Given the description of an element on the screen output the (x, y) to click on. 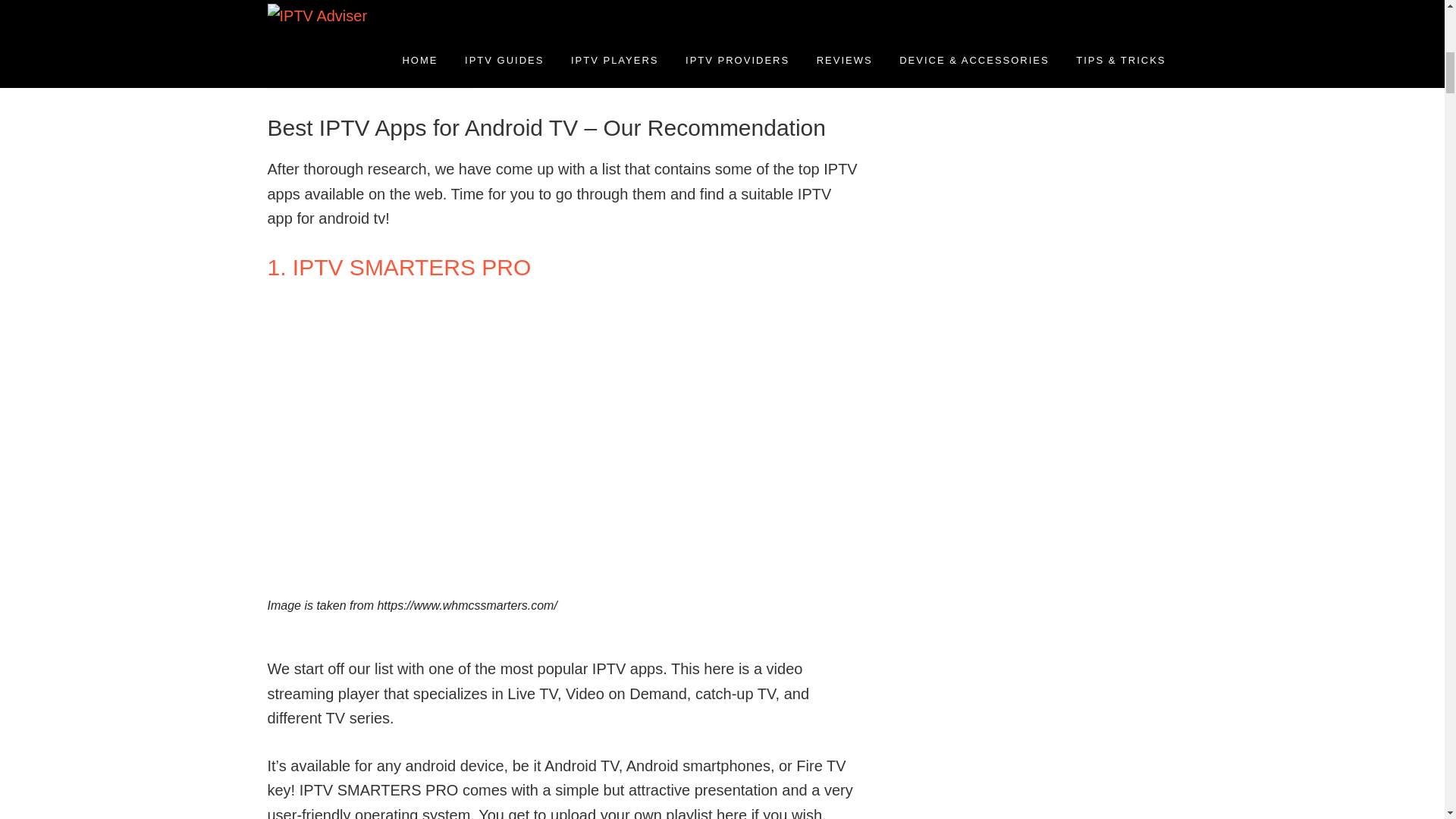
show (435, 60)
1. IPTV SMARTERS PRO (398, 267)
